Given the description of an element on the screen output the (x, y) to click on. 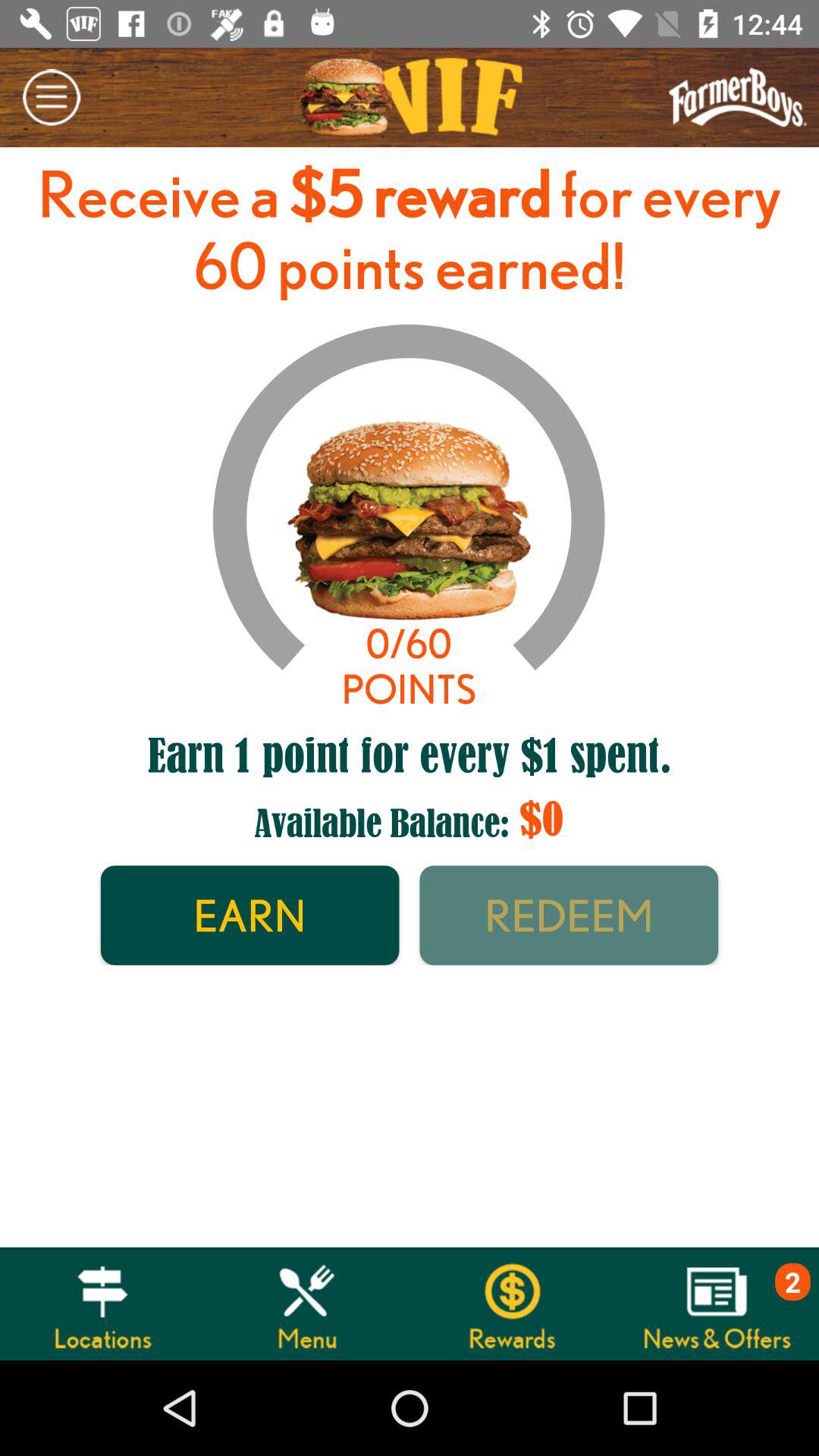
choose redeem item (568, 915)
